Given the description of an element on the screen output the (x, y) to click on. 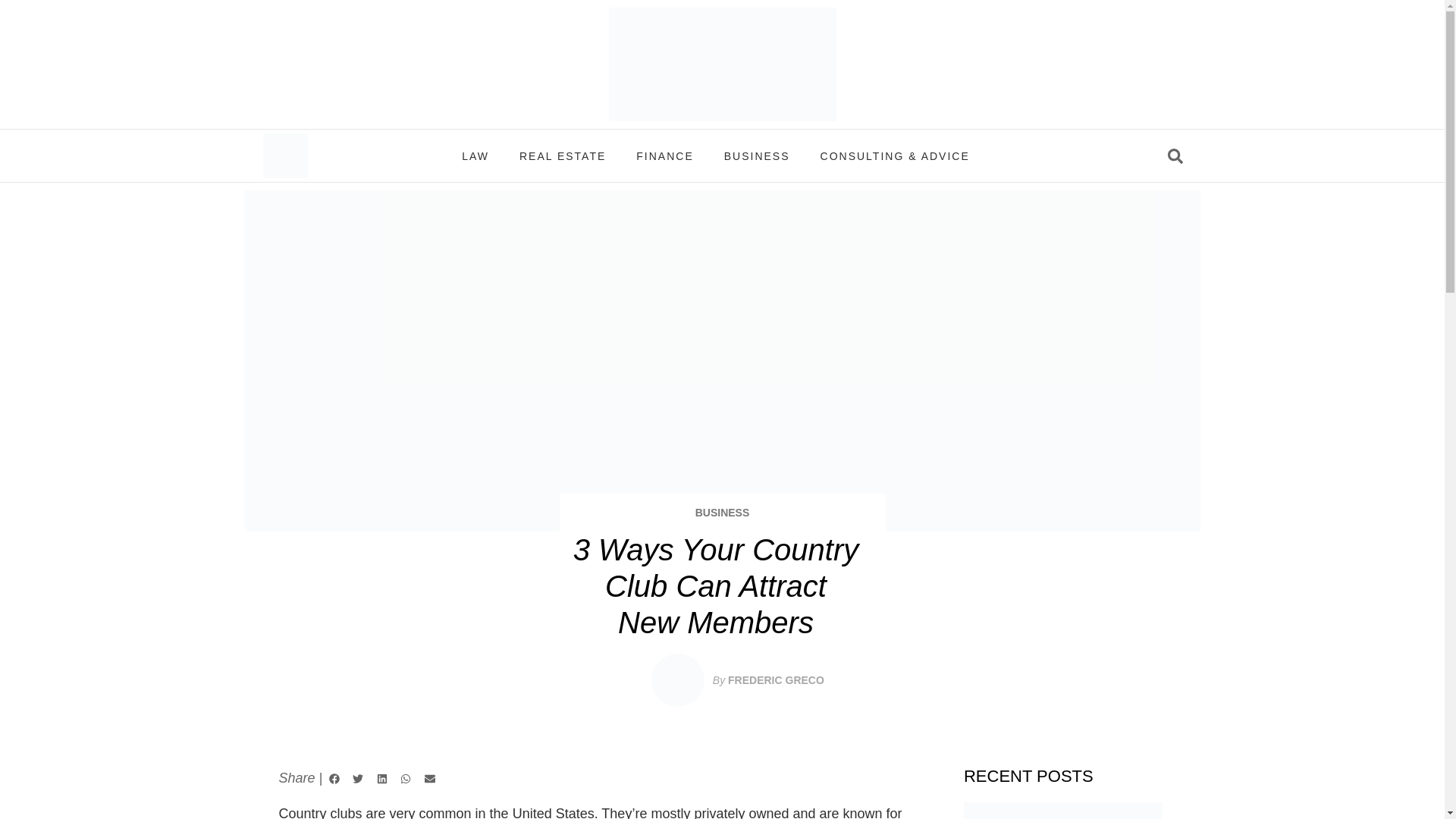
BUSINESS (722, 512)
FINANCE (664, 155)
REAL ESTATE (562, 155)
BUSINESS (757, 155)
LAW (474, 155)
By FREDERIC GRECO (768, 680)
Search (1098, 155)
